Given the description of an element on the screen output the (x, y) to click on. 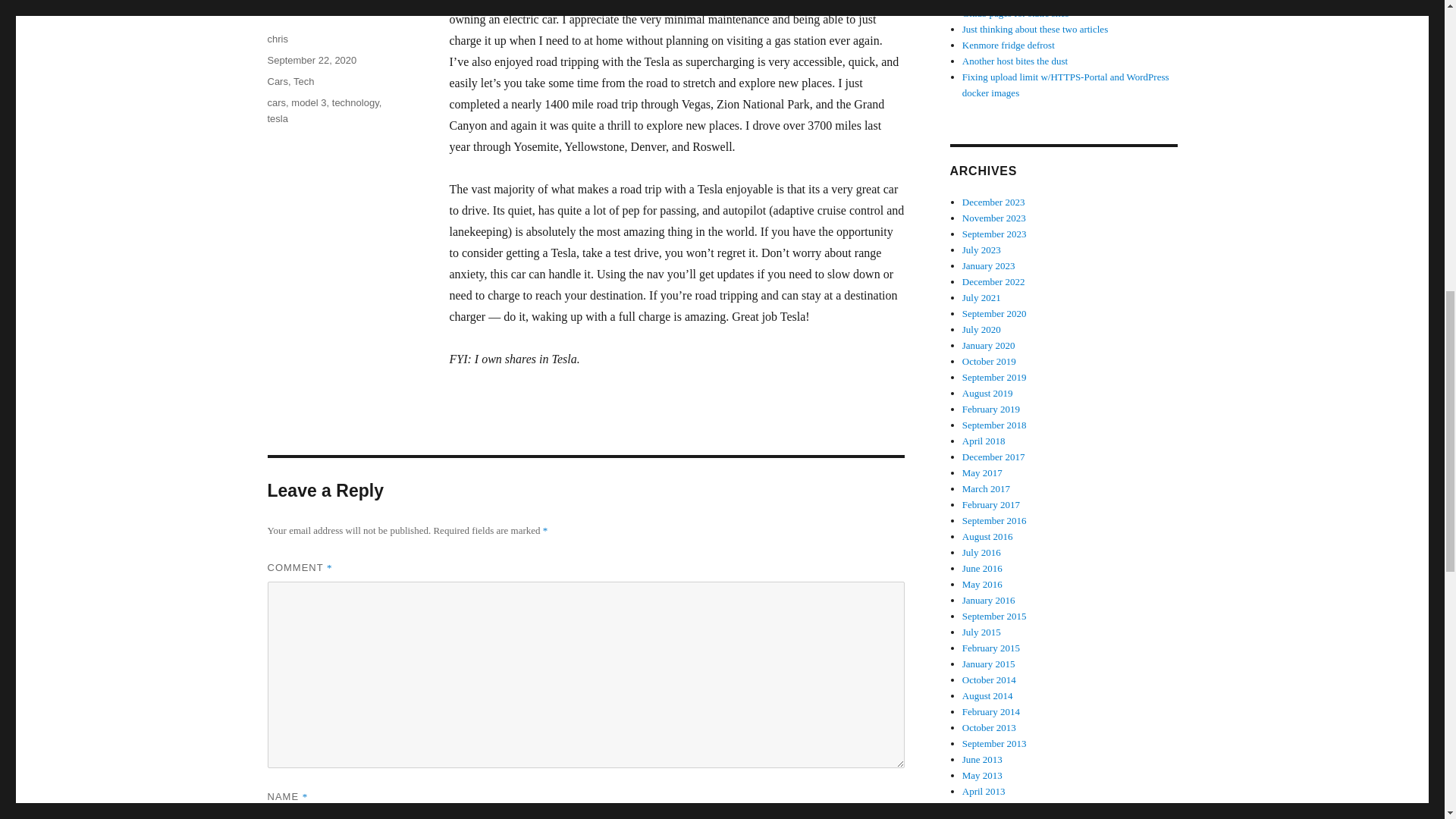
Just thinking about these two articles (1035, 29)
tesla (276, 118)
cars (275, 102)
July 2023 (981, 249)
January 2020 (988, 345)
July 2020 (981, 328)
Gitlab pages for static sites (1015, 12)
December 2022 (993, 281)
September 22, 2020 (311, 60)
technology (354, 102)
Tech (304, 81)
December 2023 (993, 202)
chris (276, 39)
January 2023 (988, 265)
September 2023 (994, 233)
